Given the description of an element on the screen output the (x, y) to click on. 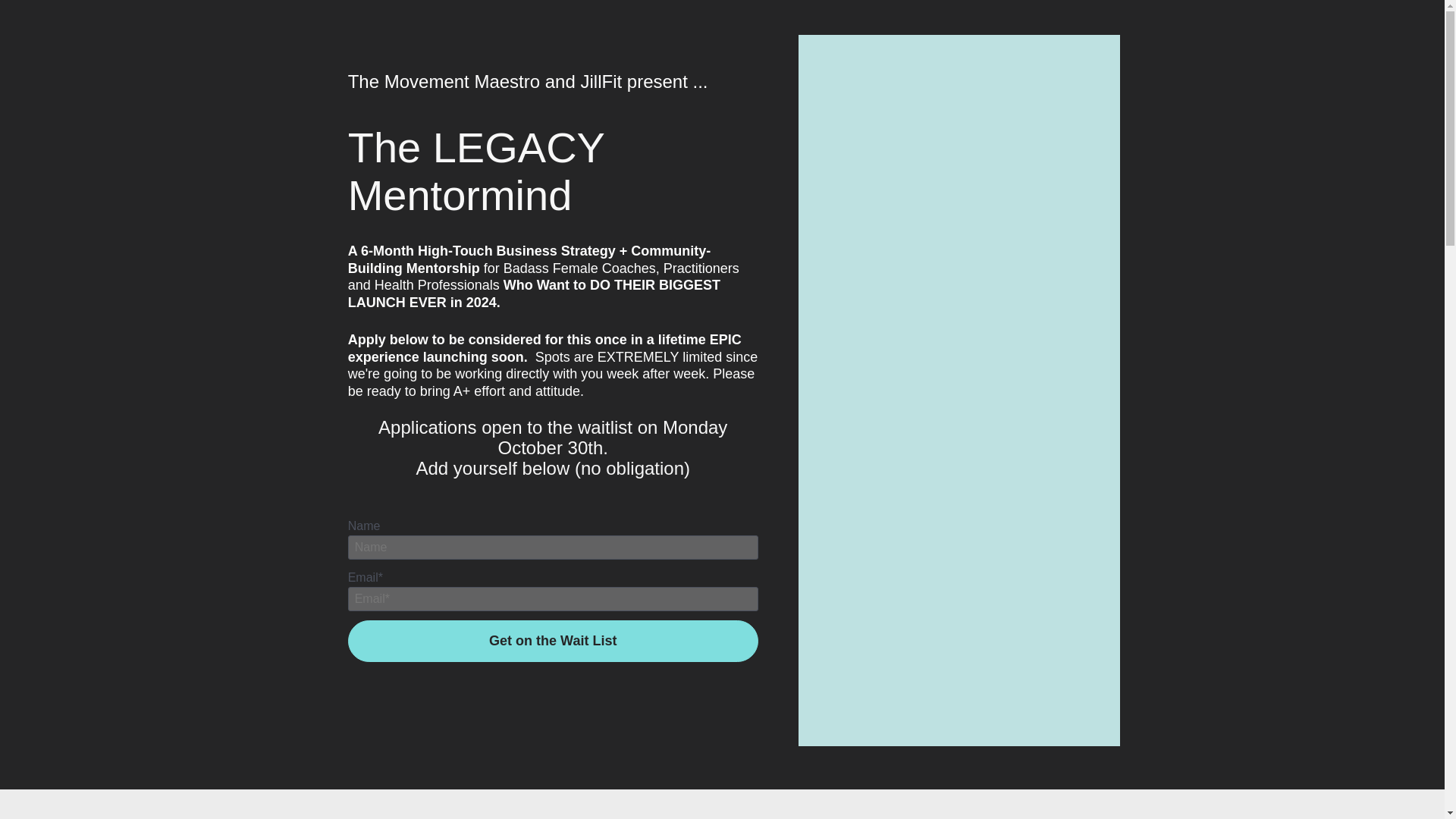
Get on the Wait List (552, 640)
